Given the description of an element on the screen output the (x, y) to click on. 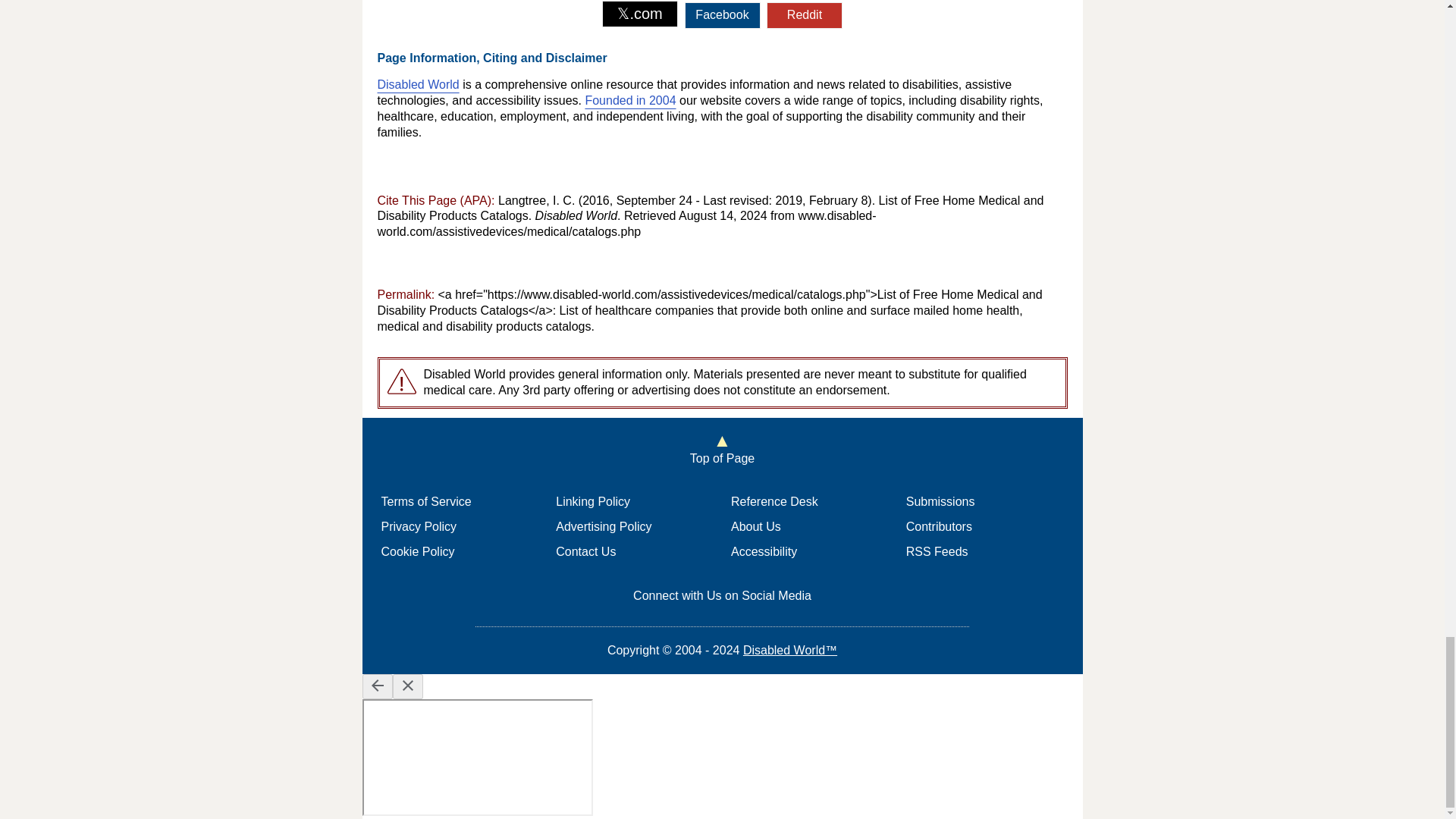
Founded in 2004 (630, 100)
Linking Policy (593, 501)
Share on X (640, 13)
Cookie Policy (417, 551)
Advertising Policy (603, 526)
Terms of Service (425, 501)
Contact Us (585, 551)
Privacy Policy (418, 526)
Disabled World (418, 83)
